Given the description of an element on the screen output the (x, y) to click on. 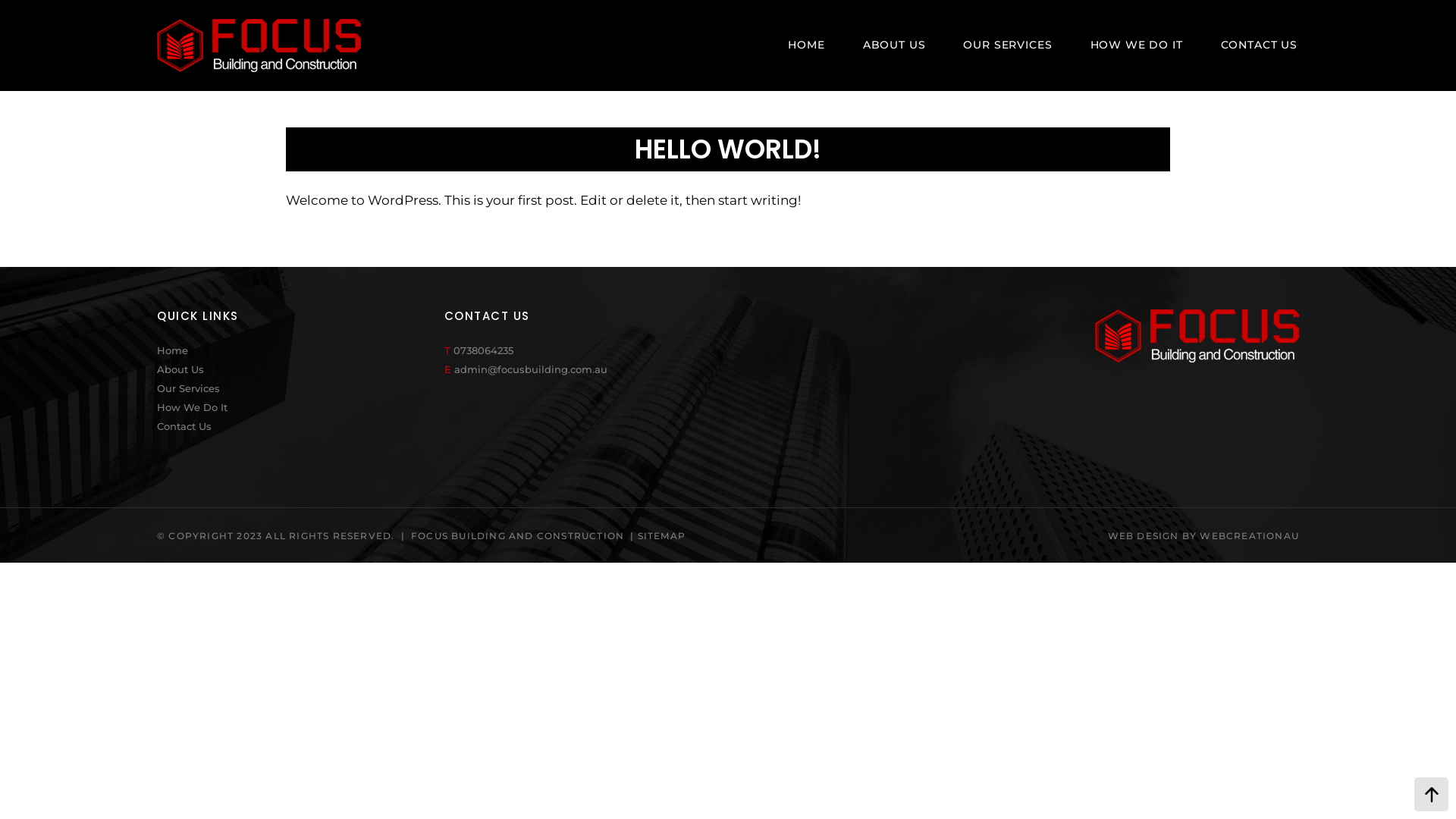
HOME Element type: text (805, 45)
OUR SERVICES Element type: text (1007, 45)
About Us Element type: text (297, 369)
Contact Us Element type: text (297, 426)
Home Element type: text (297, 350)
Our Services Element type: text (297, 388)
HOW WE DO IT Element type: text (1136, 45)
E admin@focusbuilding.com.au Element type: text (525, 369)
SITEMAP Element type: text (661, 535)
CONTACT US Element type: text (1259, 45)
ABOUT US Element type: text (894, 45)
T 0738064235 Element type: text (478, 350)
WEBCREATIONAU Element type: text (1249, 535)
How We Do It Element type: text (297, 407)
